Given the description of an element on the screen output the (x, y) to click on. 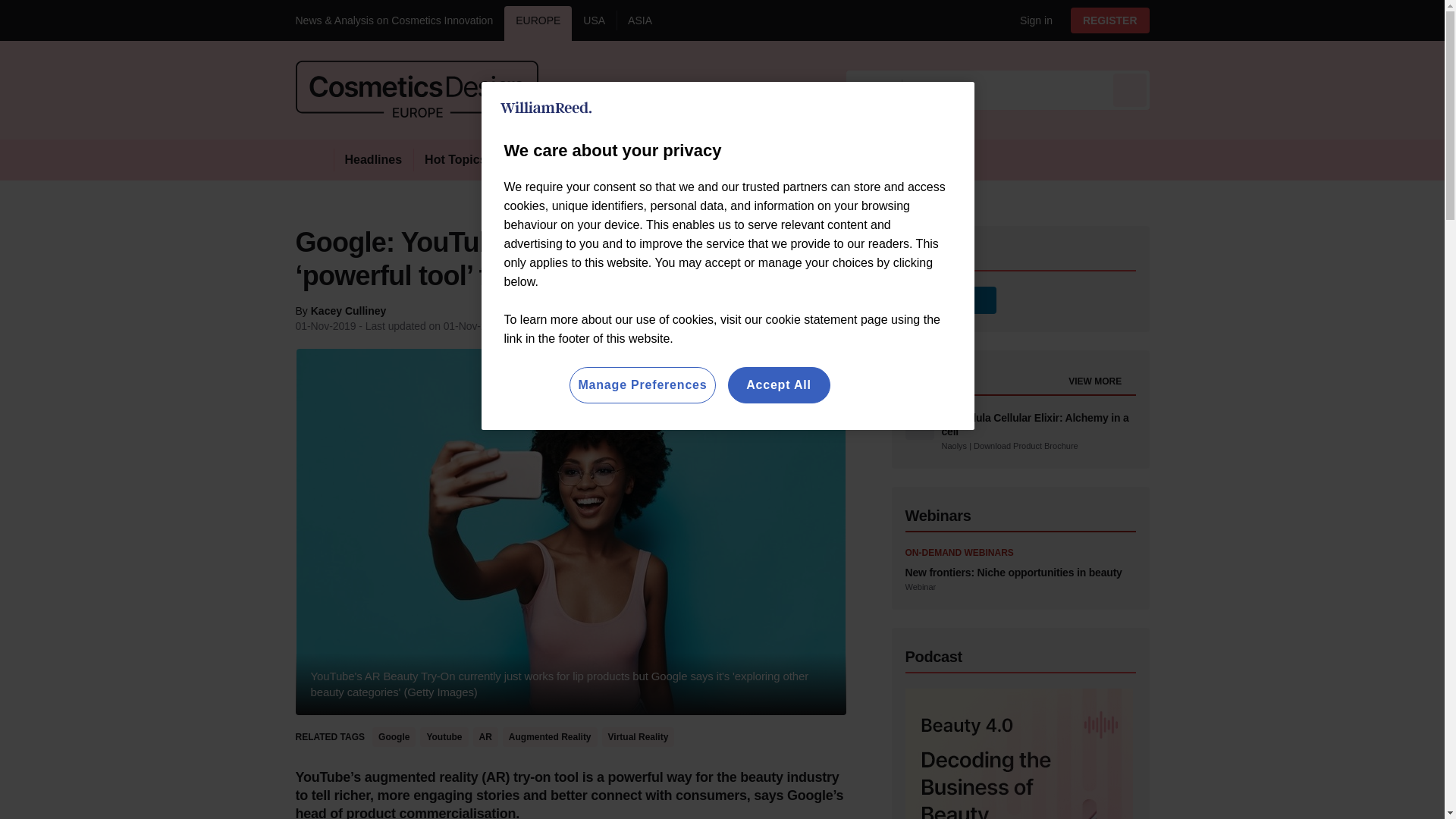
Sign in (1029, 20)
REGISTER (1110, 20)
ASIA (639, 22)
Hot Topics (455, 159)
Headlines (373, 159)
My account (1114, 20)
CosmeticsDesign Europe (416, 89)
Home (314, 159)
USA (593, 22)
EUROPE (537, 22)
Sign out (1032, 20)
Send (1129, 89)
Home (313, 159)
Send (1129, 90)
William Reed (545, 107)
